Given the description of an element on the screen output the (x, y) to click on. 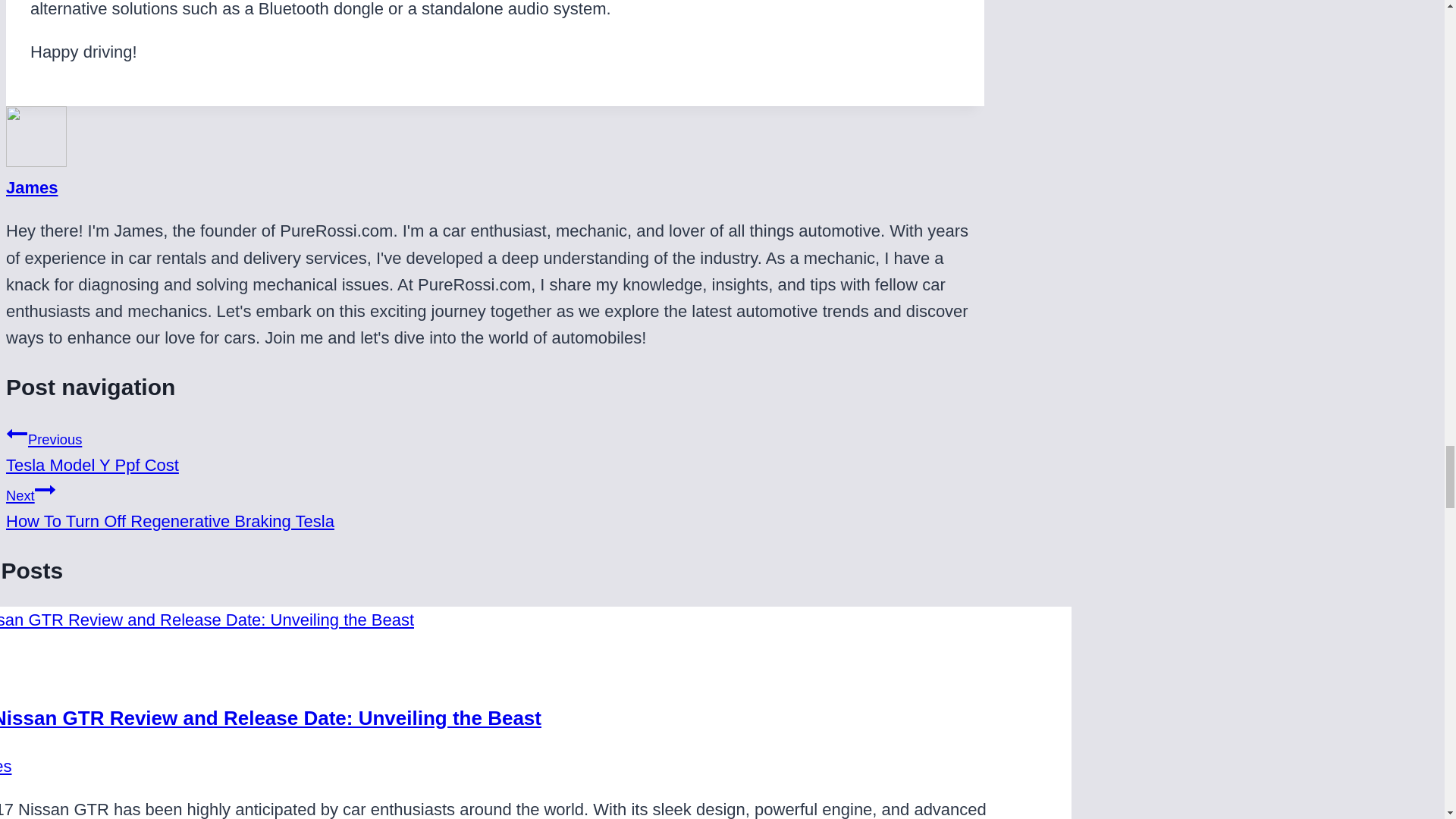
James (31, 187)
Previous (16, 433)
Posts by James (494, 504)
Continue (494, 449)
2017 Nissan GTR Review and Release Date: Unveiling the Beast (31, 187)
